Given the description of an element on the screen output the (x, y) to click on. 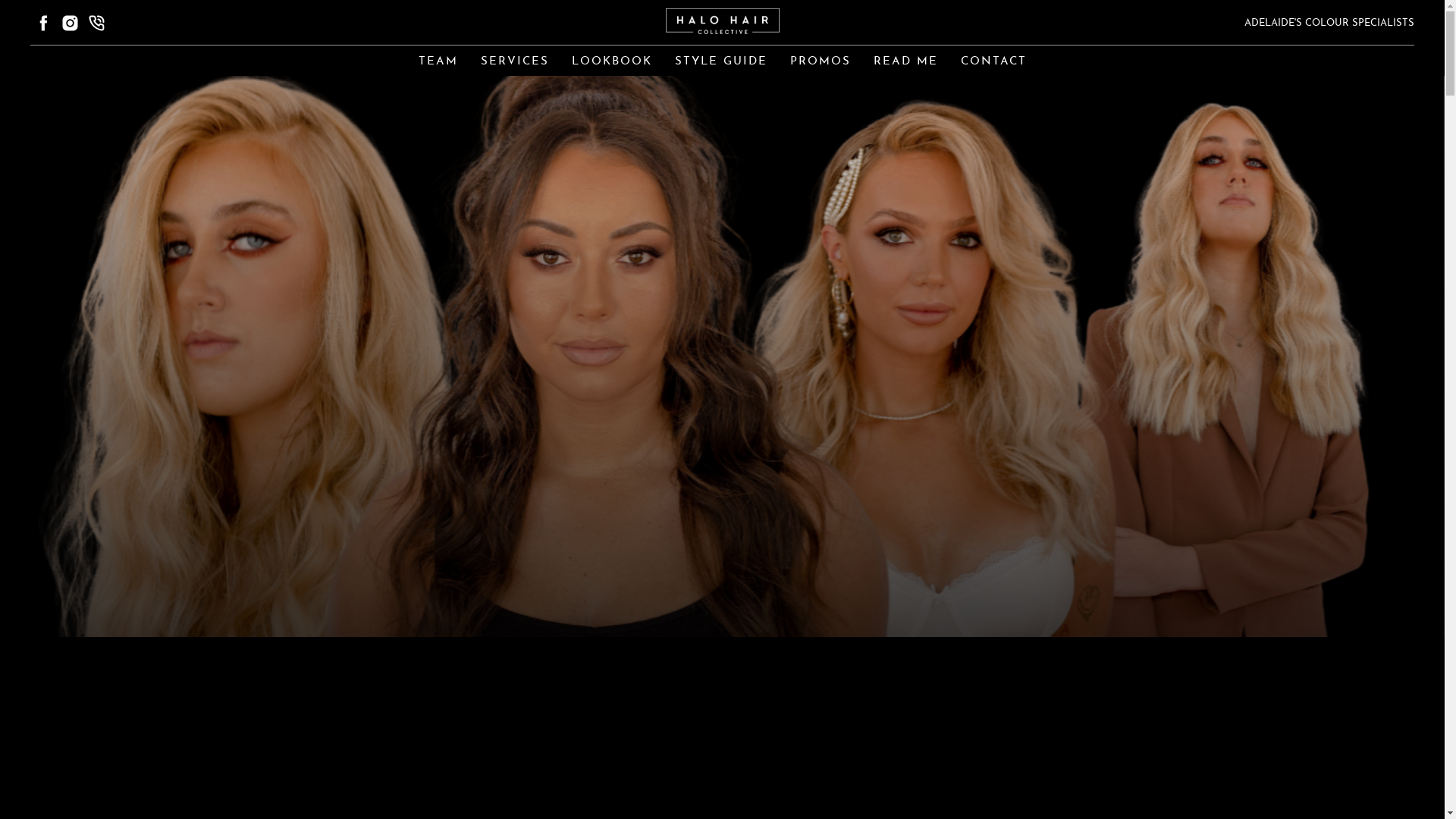
SERVICES Element type: text (514, 61)
STYLE GUIDE Element type: text (720, 61)
CONTACT Element type: text (993, 61)
READ ME Element type: text (905, 61)
TEAM Element type: text (438, 61)
LOOKBOOK Element type: text (611, 61)
PROMOS Element type: text (820, 61)
